Given the description of an element on the screen output the (x, y) to click on. 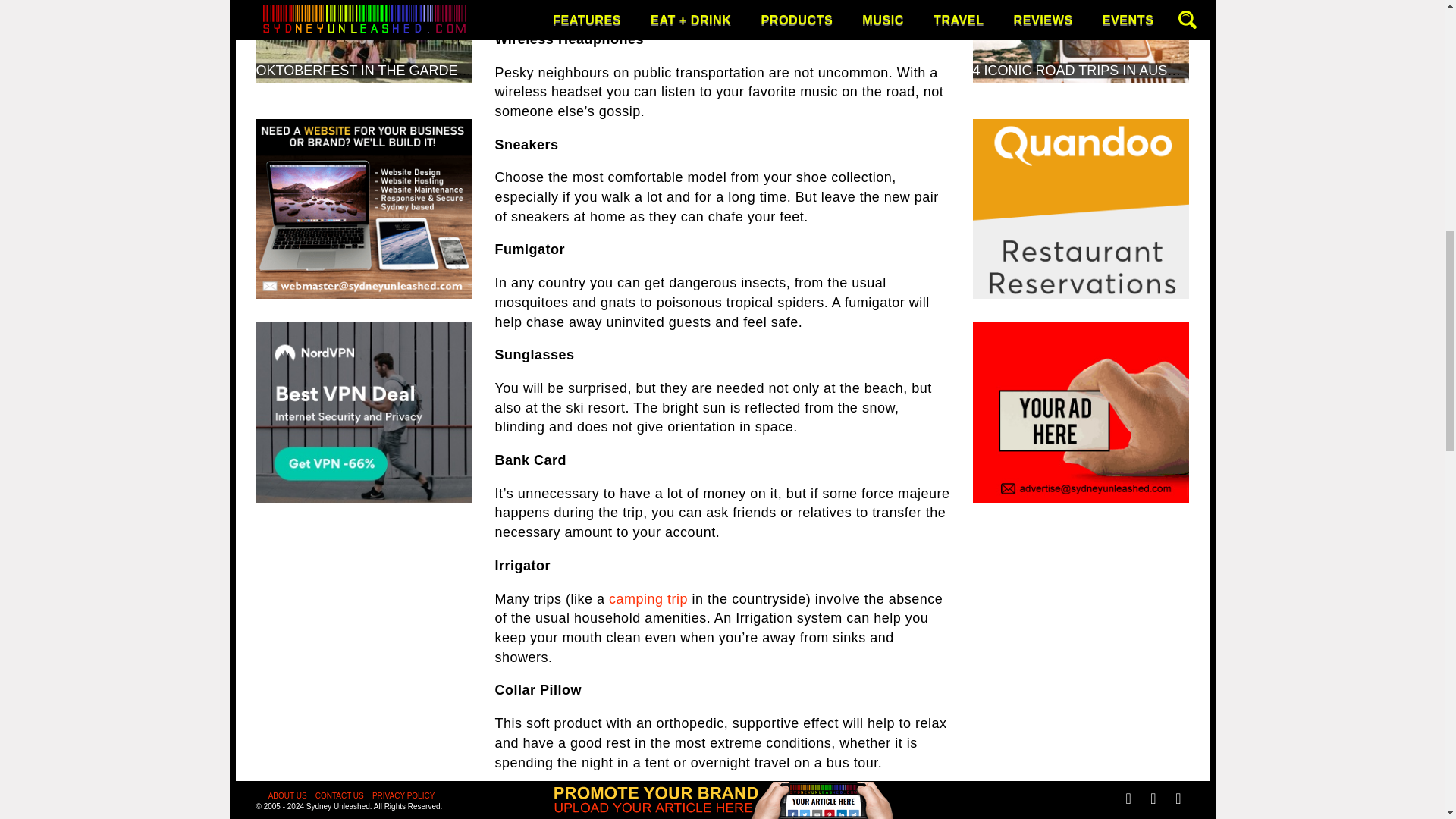
camping trip (647, 598)
